Given the description of an element on the screen output the (x, y) to click on. 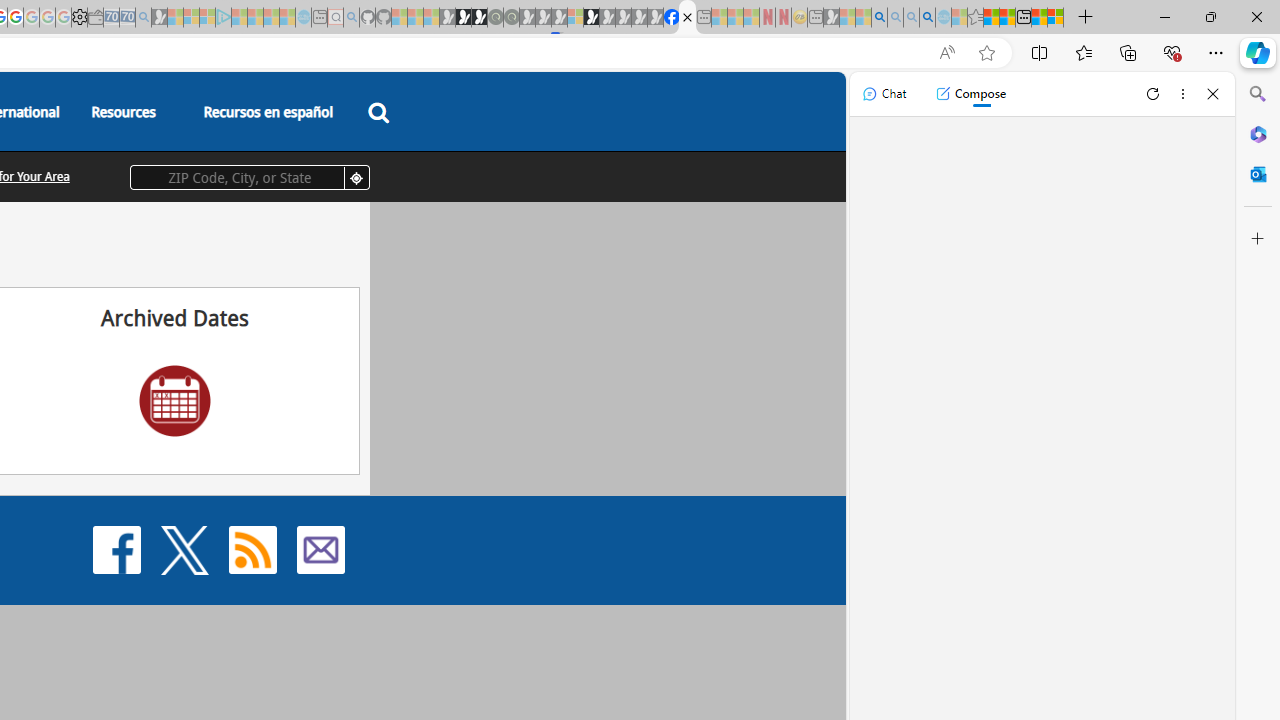
Future Focus Report 2024 - Sleeping (511, 17)
Contact Us  (320, 548)
